Given the description of an element on the screen output the (x, y) to click on. 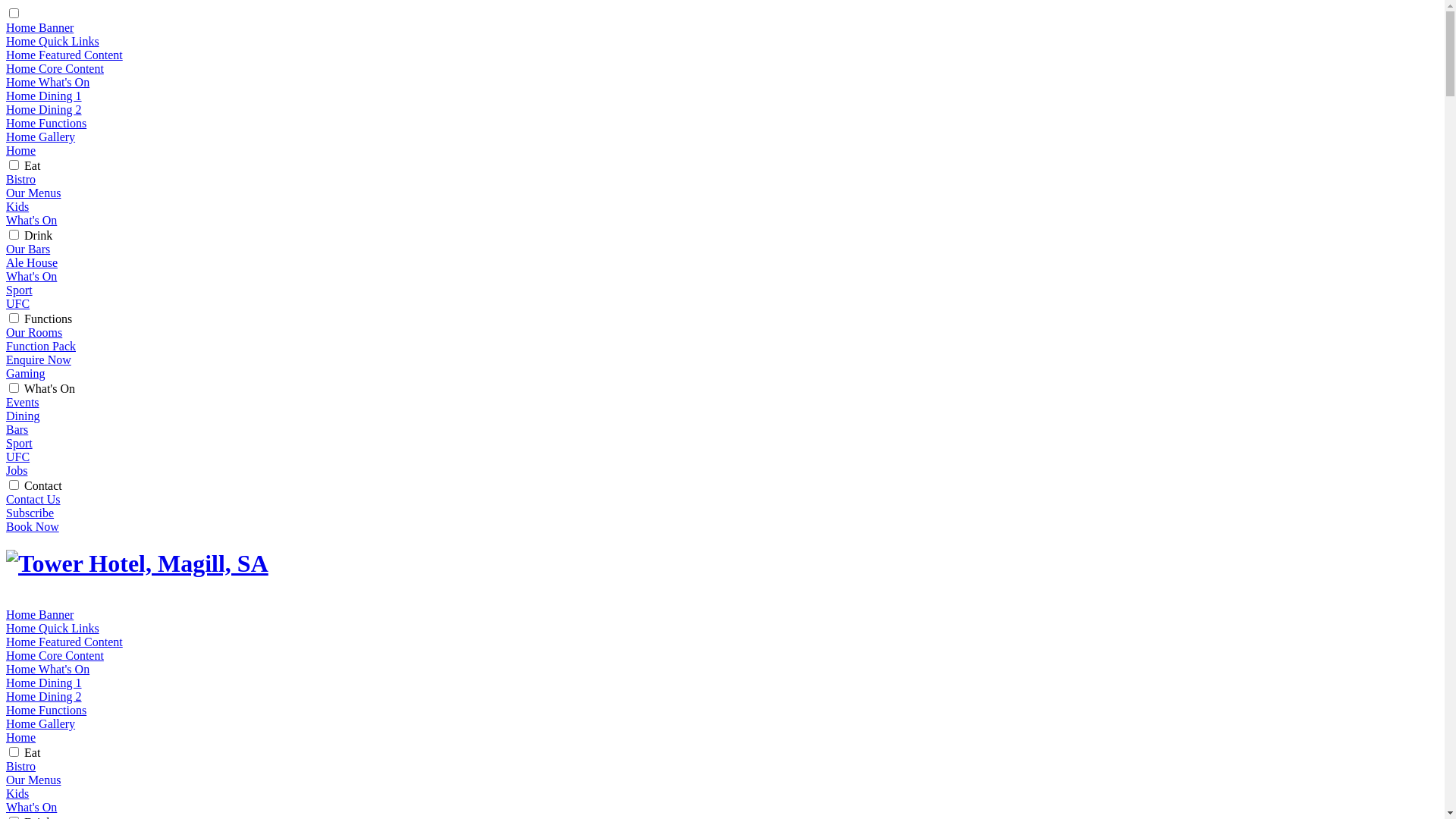
Home Dining 2 Element type: text (43, 696)
Drink Element type: text (38, 235)
UFC Element type: text (17, 303)
Function Pack Element type: text (40, 345)
Ale House Element type: text (31, 262)
Home Core Content Element type: text (54, 655)
Contact Us Element type: text (33, 498)
Home Element type: text (20, 150)
Kids Element type: text (17, 793)
Sport Element type: text (19, 442)
Jobs Element type: text (16, 470)
Home Gallery Element type: text (40, 136)
What's On Element type: text (49, 388)
Our Bars Element type: text (28, 248)
Home Featured Content Element type: text (64, 641)
Eat Element type: text (32, 752)
Home Banner Element type: text (39, 27)
What's On Element type: text (31, 275)
Home Dining 1 Element type: text (43, 95)
Home What's On Element type: text (47, 81)
Eat Element type: text (32, 165)
Events Element type: text (22, 401)
UFC Element type: text (17, 456)
Subscribe Element type: text (29, 512)
Home Dining 2 Element type: text (43, 109)
Bistro Element type: text (20, 765)
Home What's On Element type: text (47, 668)
Enquire Now Element type: text (38, 359)
Home Quick Links Element type: text (52, 40)
Home Gallery Element type: text (40, 723)
Book Now Element type: text (32, 526)
Our Menus Element type: text (33, 192)
Home Featured Content Element type: text (64, 54)
Functions Element type: text (48, 318)
Home Core Content Element type: text (54, 68)
Home Dining 1 Element type: text (43, 682)
What's On Element type: text (31, 806)
Kids Element type: text (17, 206)
Home Functions Element type: text (46, 709)
Our Menus Element type: text (33, 779)
Home Quick Links Element type: text (52, 627)
Sport Element type: text (19, 289)
Bars Element type: text (17, 429)
Our Rooms Element type: text (34, 332)
Home Banner Element type: text (39, 614)
Bistro Element type: text (20, 178)
Dining Element type: text (22, 415)
Contact Element type: text (43, 485)
What's On Element type: text (31, 219)
Home Functions Element type: text (46, 122)
Home Element type: text (20, 737)
Gaming Element type: text (25, 373)
